Given the description of an element on the screen output the (x, y) to click on. 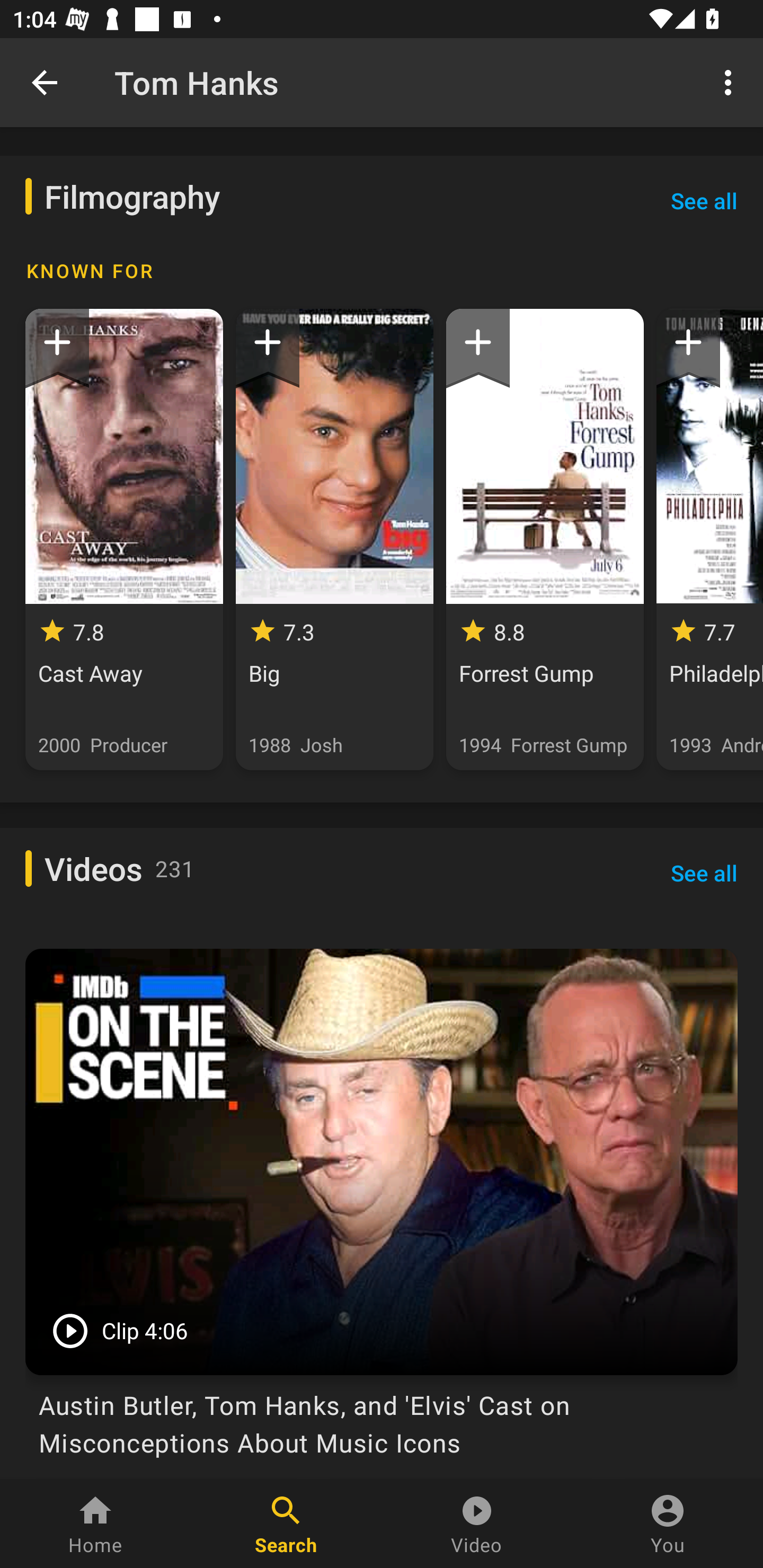
More options (731, 81)
See all See all  (703, 200)
7.8 Cast Away 2000  Producer (123, 538)
7.3 Big 1988  Josh (334, 538)
8.8 Forrest Gump 1994  Forrest Gump (544, 538)
See all See all Videos (703, 872)
Home (95, 1523)
Video (476, 1523)
You (667, 1523)
